Given the description of an element on the screen output the (x, y) to click on. 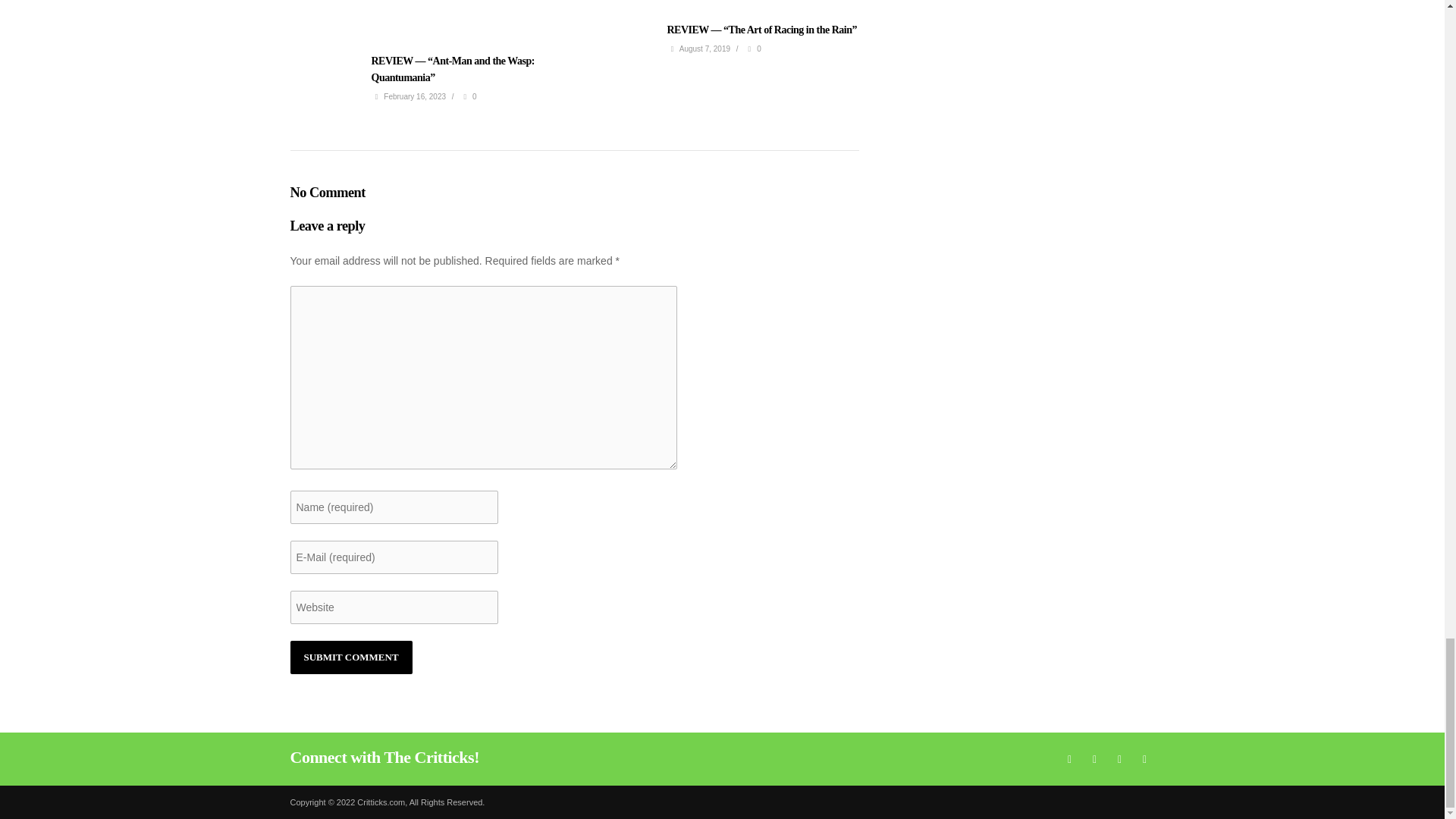
Submit comment (350, 657)
Comments (468, 96)
